Given the description of an element on the screen output the (x, y) to click on. 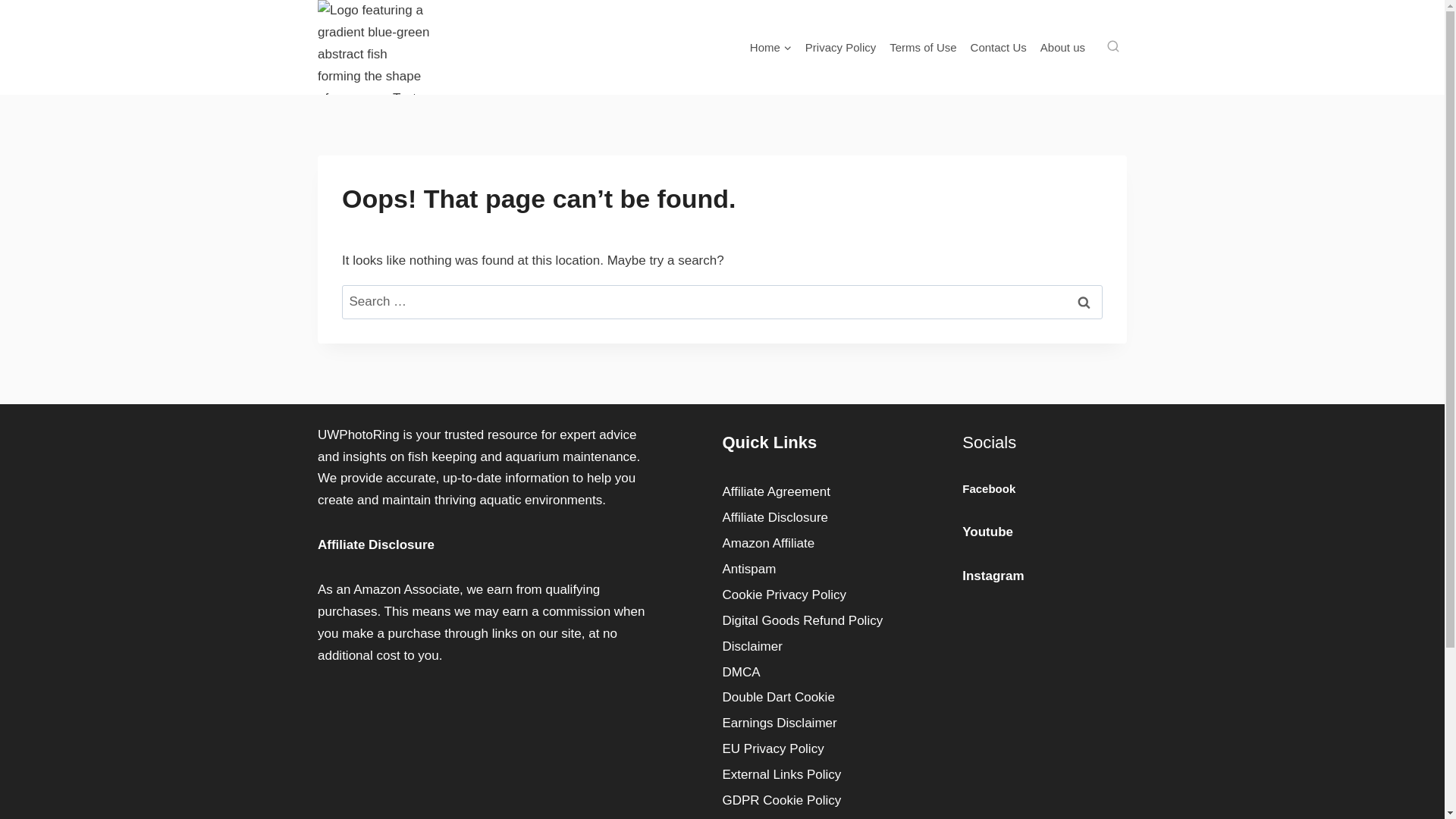
Cookie Privacy Policy (804, 595)
Antispam (804, 569)
DMCA (804, 672)
Search (1083, 301)
EU Privacy Policy (804, 749)
Affiliate Agreement (804, 492)
Search (1083, 301)
Search (1083, 301)
Privacy Policy (839, 47)
GDPR Cookie Policy (804, 801)
